Given the description of an element on the screen output the (x, y) to click on. 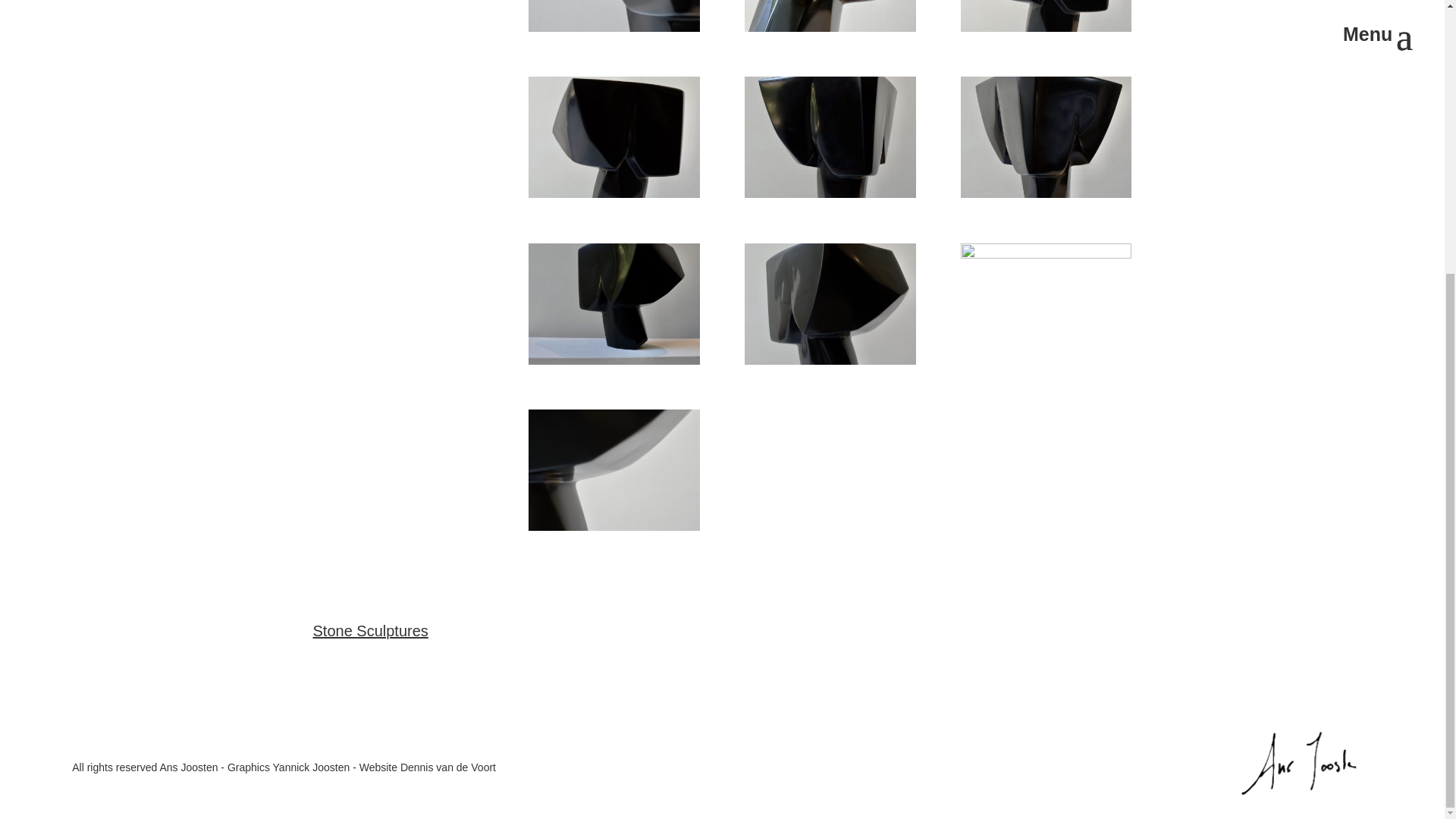
aj initials new.. kopie (1300, 763)
Stone Sculptures (370, 630)
